Given the description of an element on the screen output the (x, y) to click on. 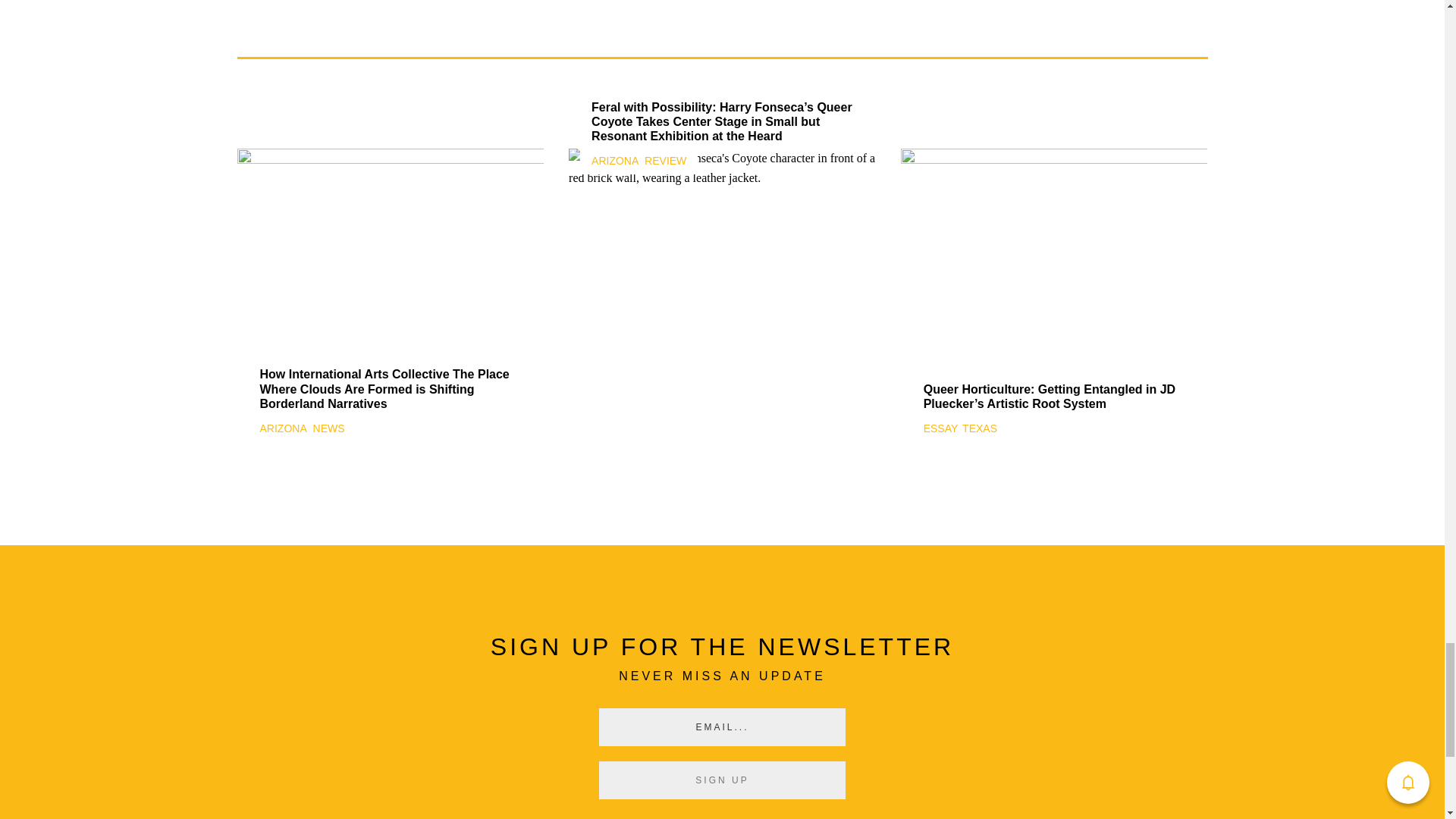
Sign Up (721, 779)
